Given the description of an element on the screen output the (x, y) to click on. 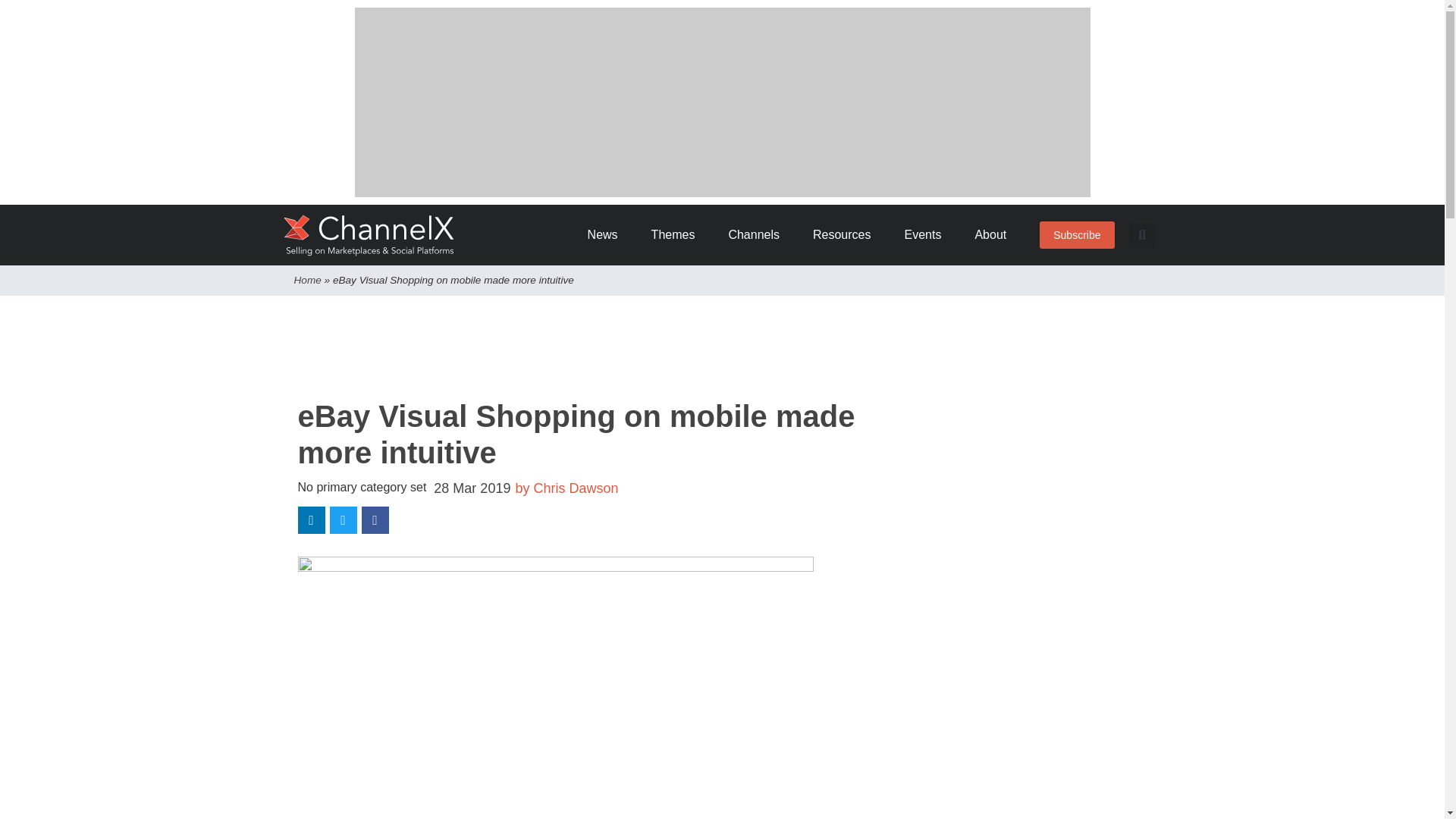
ChannelX Home Page (369, 234)
Themes (678, 234)
News (607, 234)
Resources (846, 234)
Channels (758, 234)
